Given the description of an element on the screen output the (x, y) to click on. 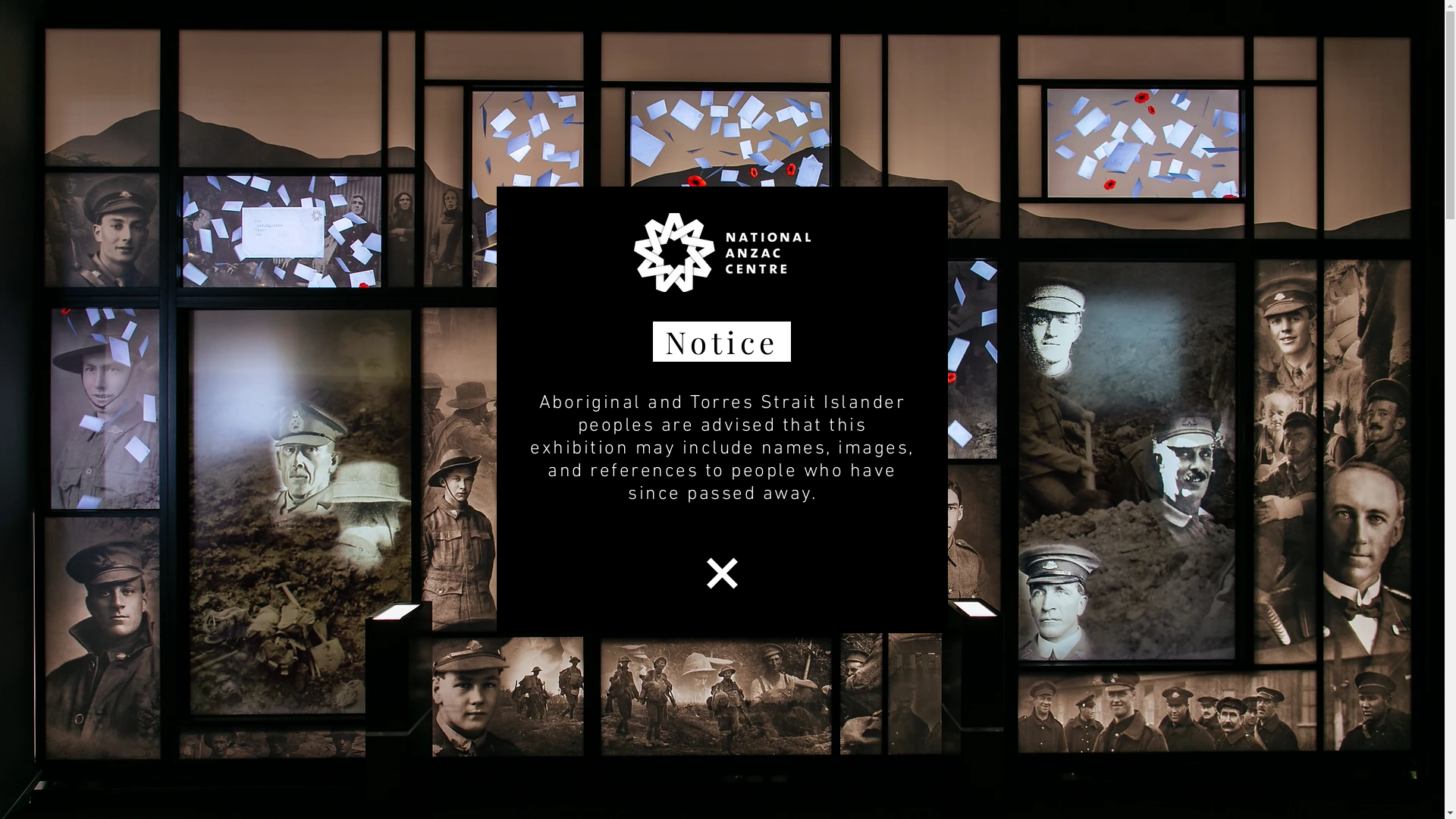
SUPPORT Element type: text (865, 91)
Top of Page Element type: text (1311, 367)
ABOUT Element type: text (1019, 91)
Tour Groups & Wholesale Element type: text (1311, 435)
Individuals & Gift Vouchers Element type: text (1311, 384)
TICKETS Element type: text (569, 91)
Back to site Element type: hover (721, 573)
Groups Element type: text (1311, 401)
Footer Element type: text (1311, 452)
VISIT Element type: text (716, 91)
HOME Element type: text (421, 91)
School Groups Element type: text (1311, 418)
